Given the description of an element on the screen output the (x, y) to click on. 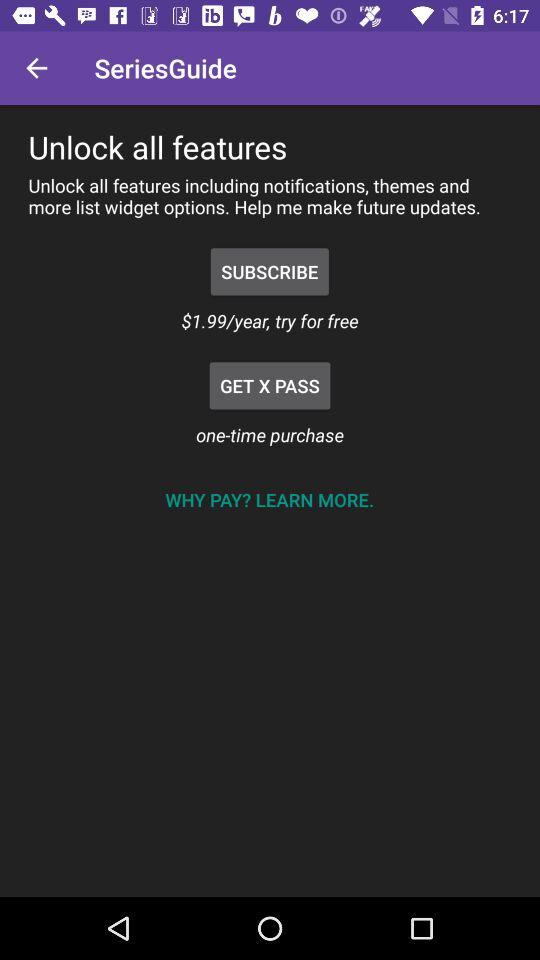
click the subscribe icon (269, 271)
